Given the description of an element on the screen output the (x, y) to click on. 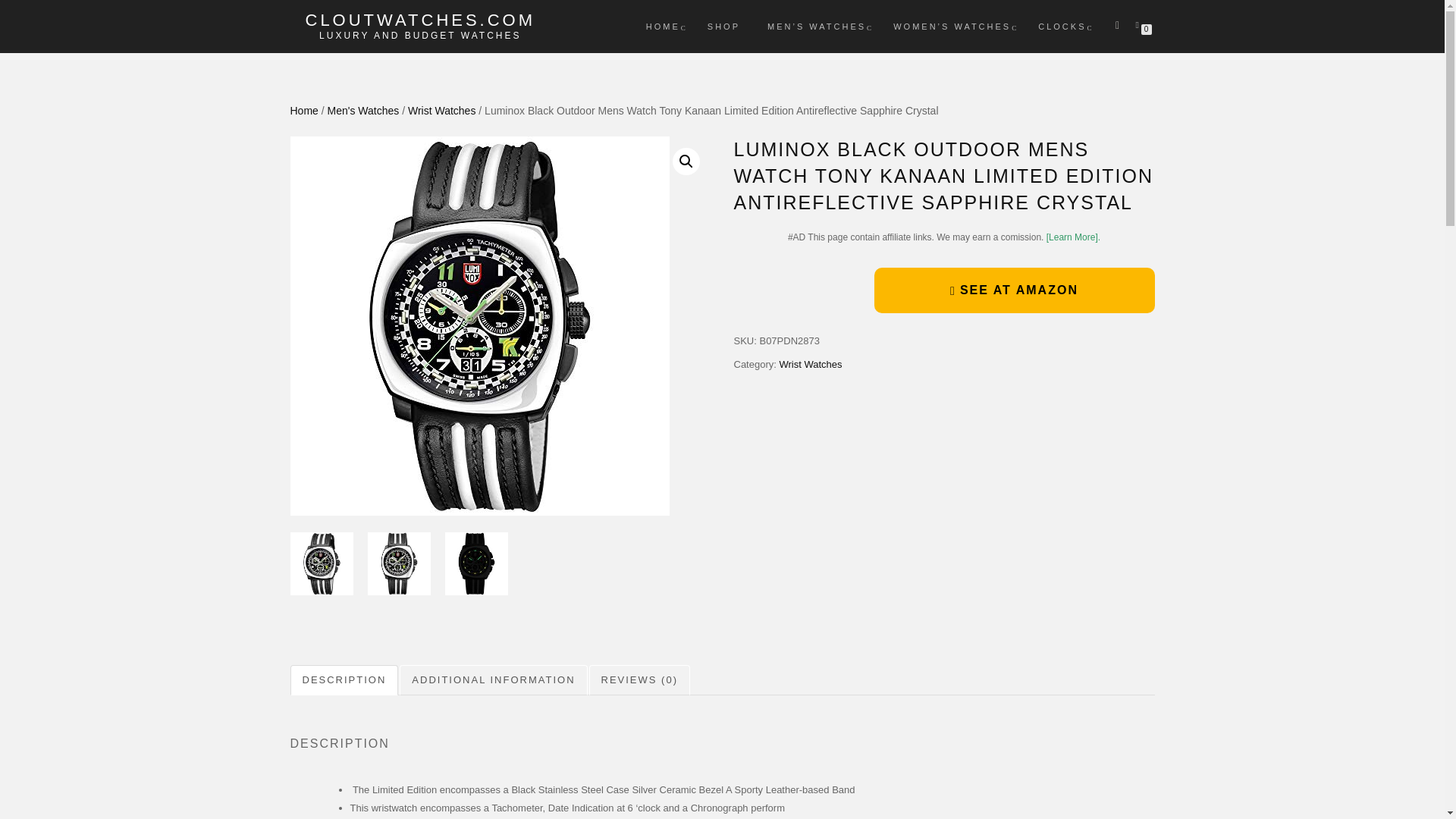
Wrist Watches (441, 110)
DESCRIPTION (343, 680)
ADDITIONAL INFORMATION (492, 680)
0 (1139, 23)
CloutWatches.com (419, 20)
SHOP (723, 26)
HOME (662, 26)
Wrist Watches (809, 364)
CLOCKS (1061, 26)
LUXURY AND BUDGET WATCHES (419, 35)
